Given the description of an element on the screen output the (x, y) to click on. 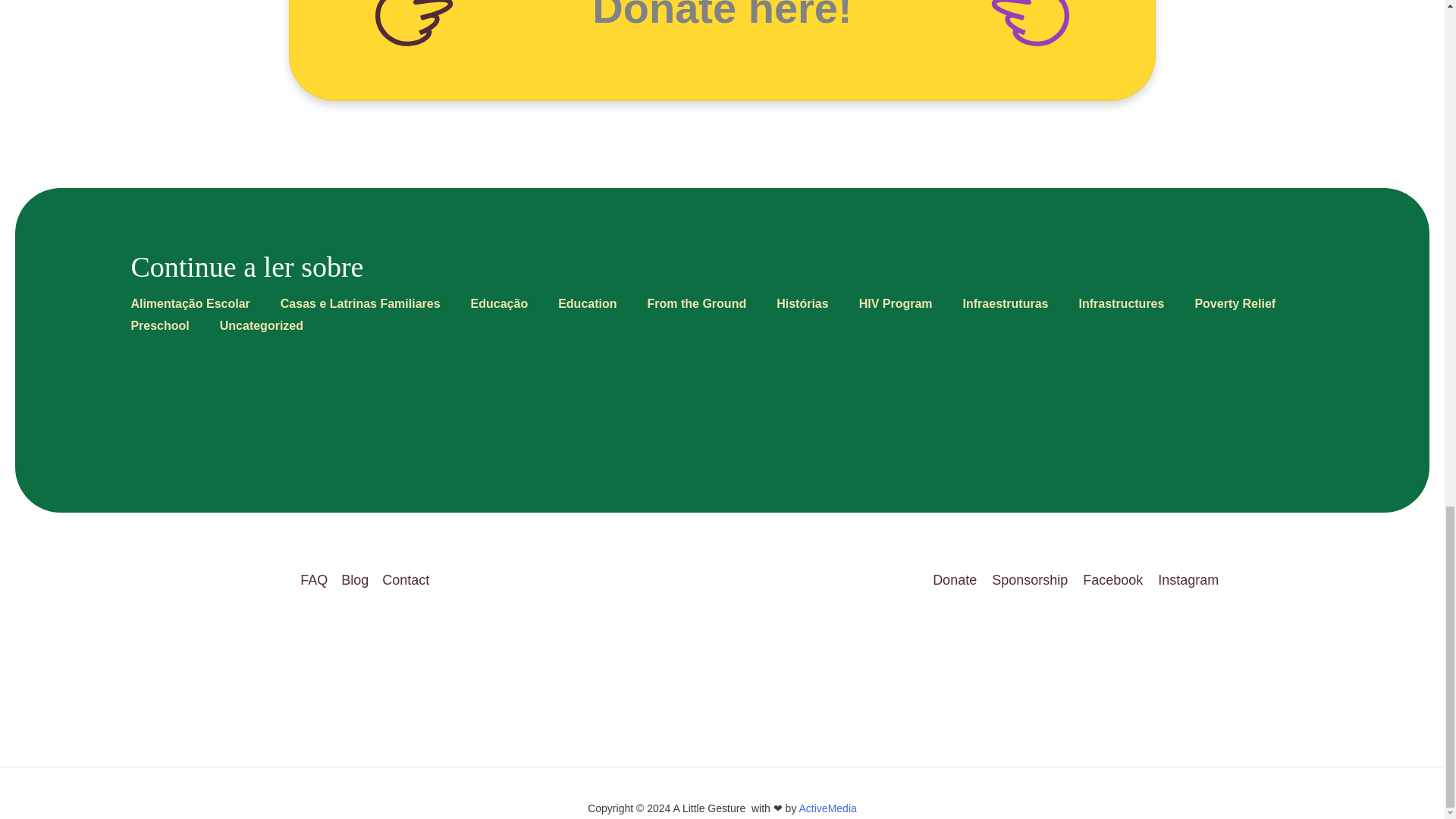
ActiveMedia (828, 808)
Contact (402, 580)
Sponsorship (1029, 580)
ActiveMedia (828, 808)
Facebook (1112, 580)
Instagram (1187, 580)
FAQ (316, 580)
Donate (958, 580)
PayPal - The safer, easier way to pay online! (722, 50)
Blog (354, 580)
